Given the description of an element on the screen output the (x, y) to click on. 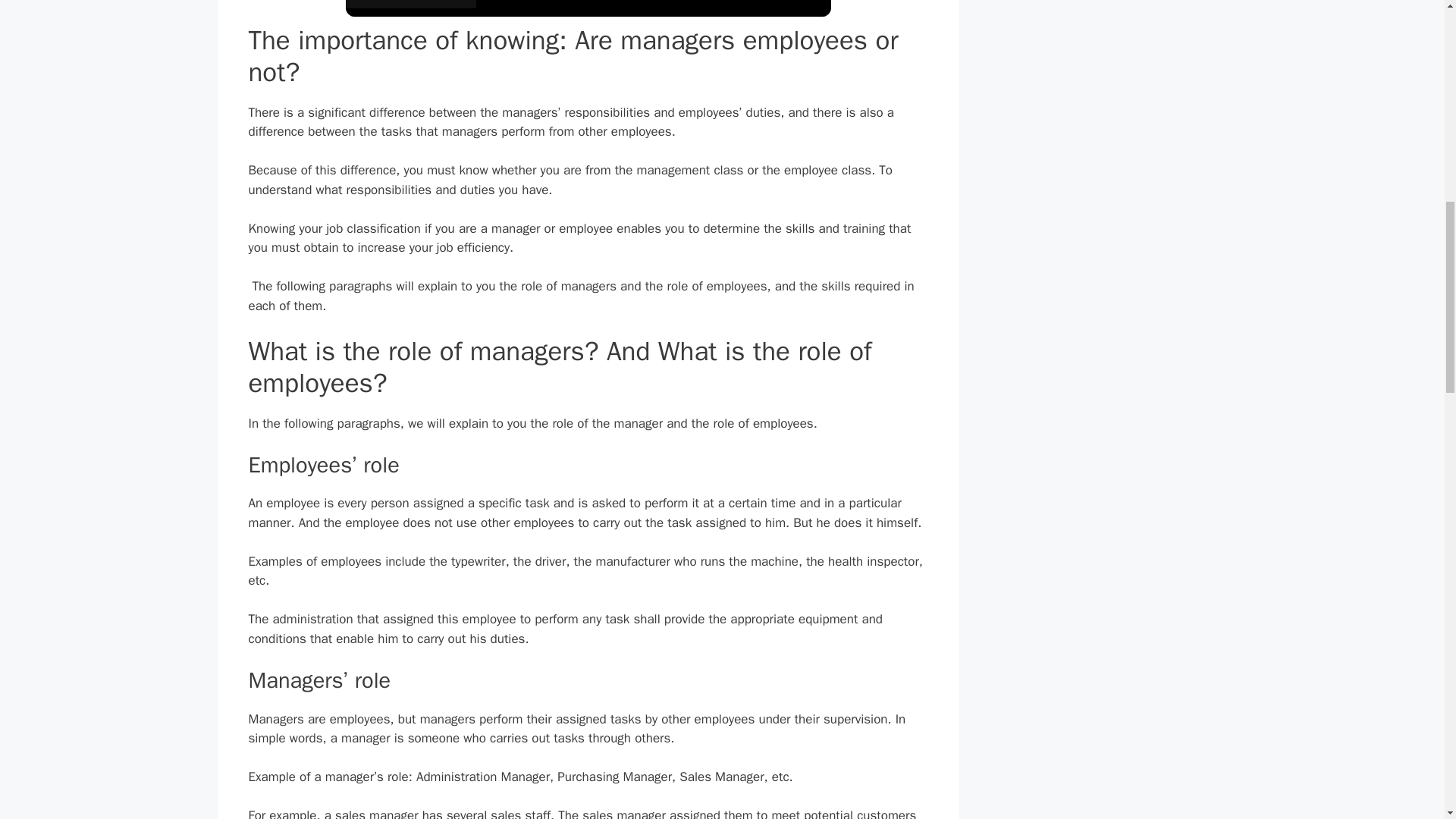
Watch on (411, 4)
